Given the description of an element on the screen output the (x, y) to click on. 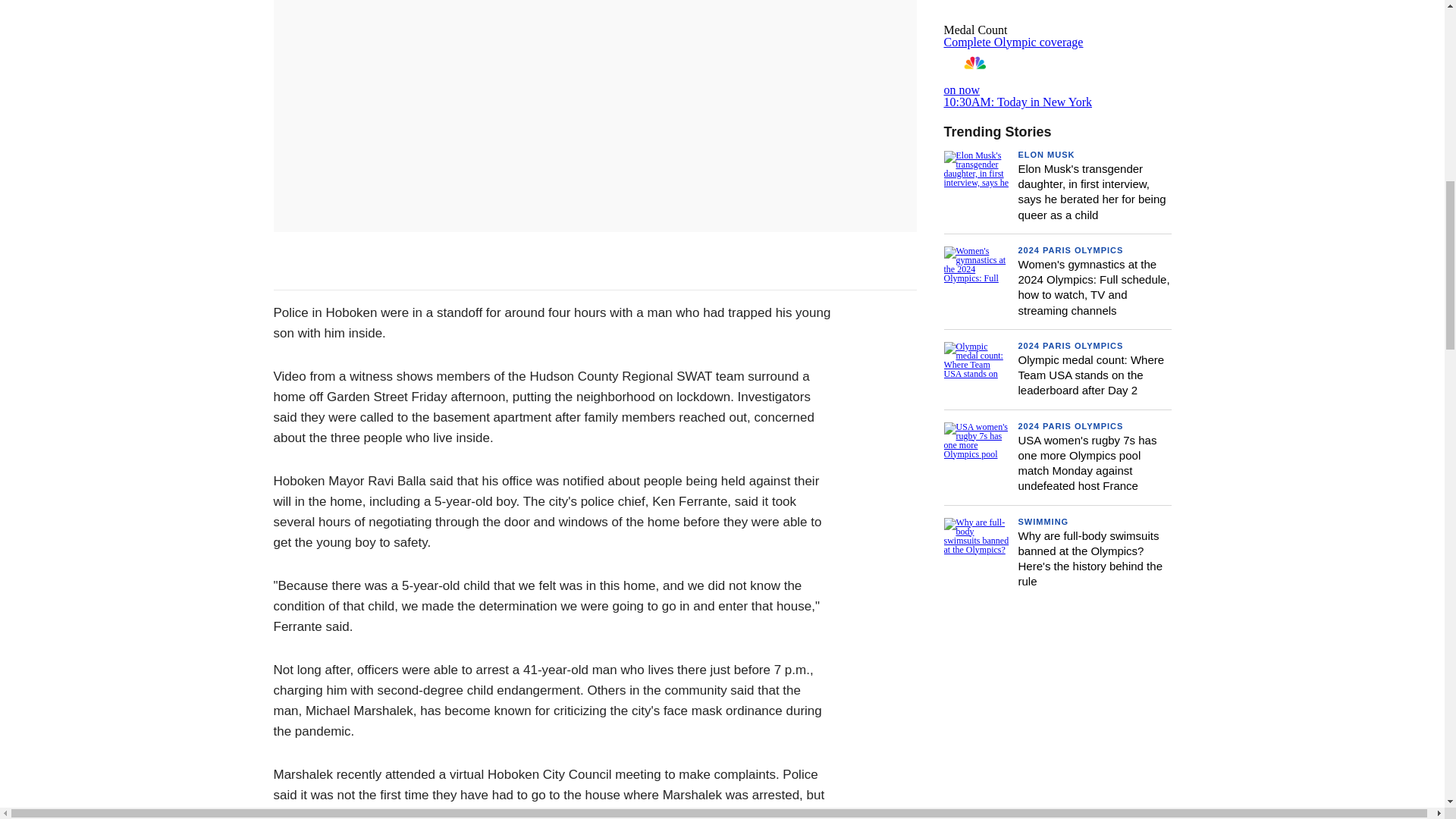
ELON MUSK (1056, 78)
Complete Olympic coverage (1045, 153)
